Given the description of an element on the screen output the (x, y) to click on. 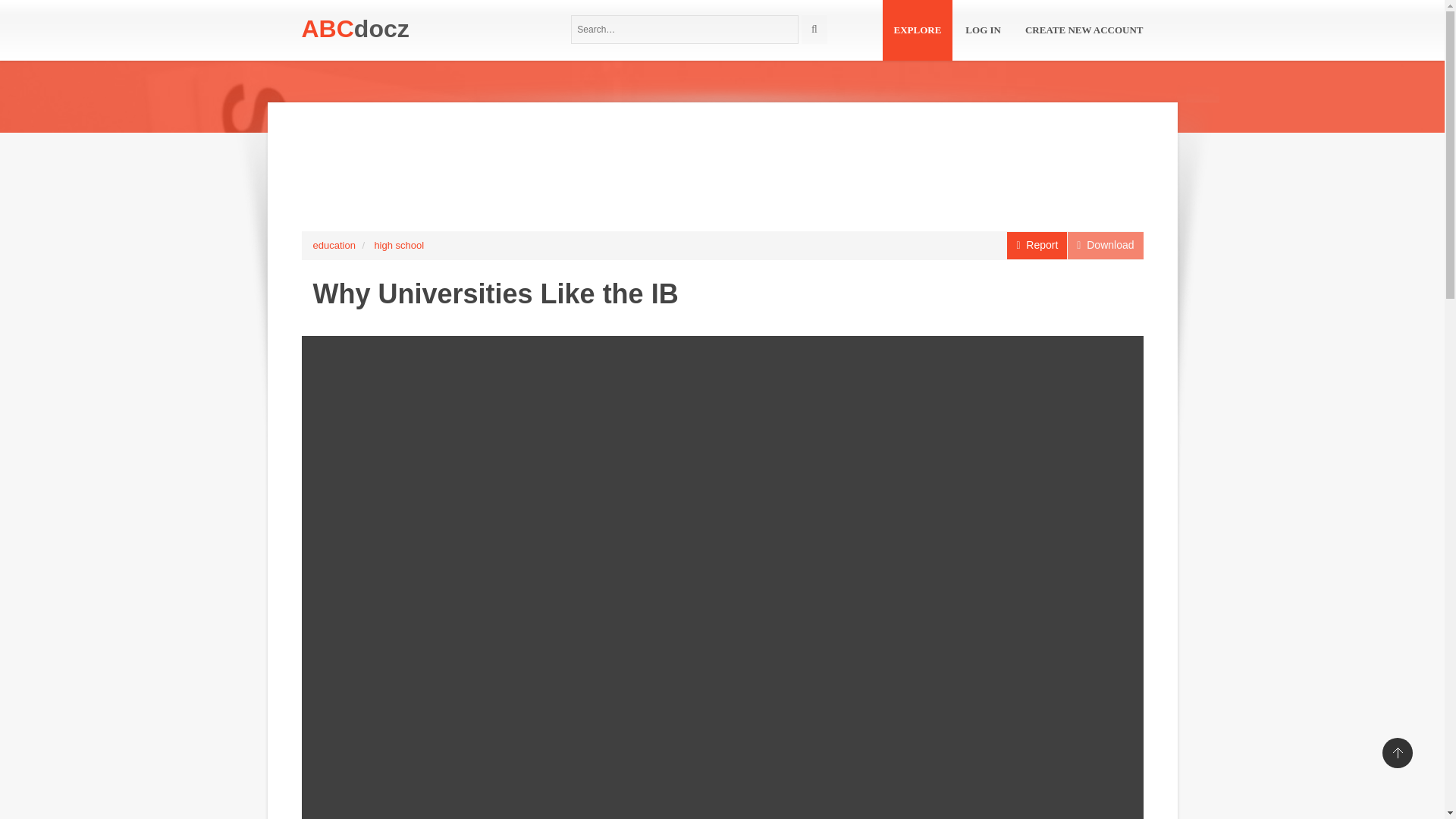
ABCdocz (355, 28)
EXPLORE (917, 30)
  Report (1037, 245)
high school (398, 244)
  Download (1104, 245)
CREATE NEW ACCOUNT (1083, 30)
education (334, 244)
LOG IN (982, 30)
